Given the description of an element on the screen output the (x, y) to click on. 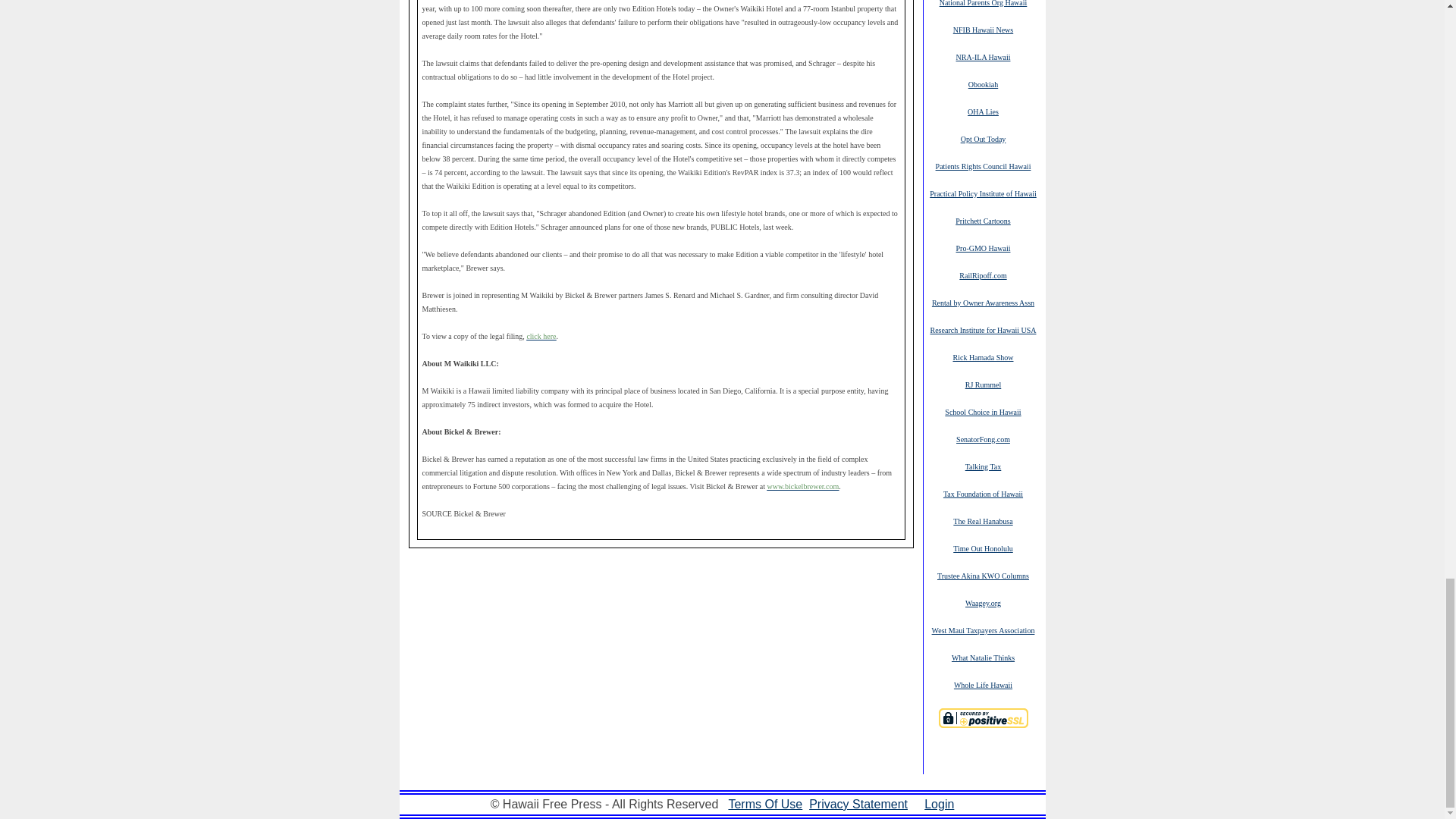
click here (540, 336)
www.bickelbrewer.com (802, 486)
Login (938, 803)
